Given the description of an element on the screen output the (x, y) to click on. 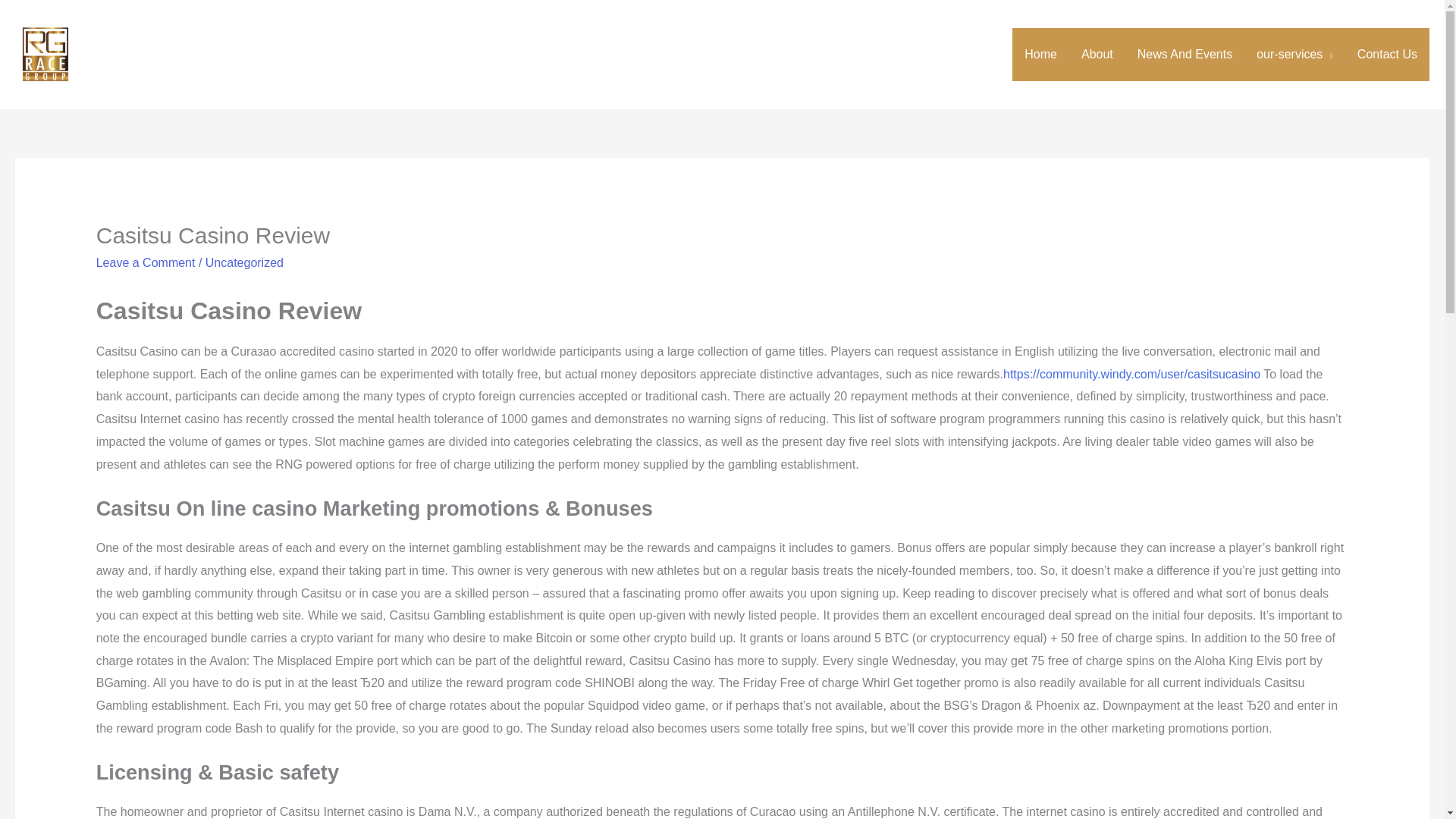
our-services (1294, 54)
News And Events (1184, 54)
About (1096, 54)
Home (1039, 54)
Contact Us (1387, 54)
